Given the description of an element on the screen output the (x, y) to click on. 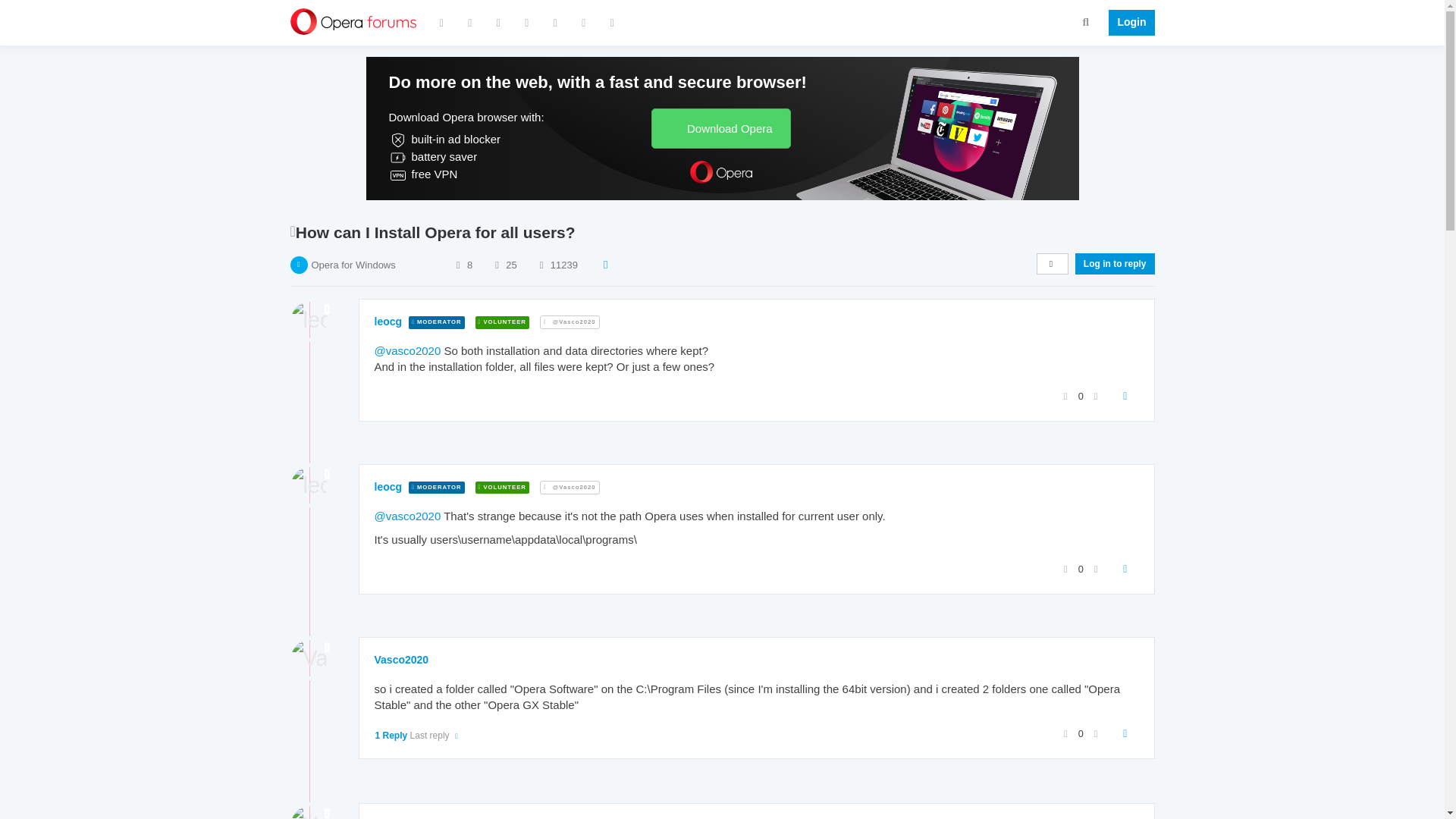
Posters (457, 265)
Opera for Windows (352, 265)
Login (1127, 22)
leocg (388, 321)
Search (1085, 21)
MODERATOR (436, 321)
Views (541, 265)
Download Opera (720, 128)
25 (510, 265)
Posts (496, 265)
